Given the description of an element on the screen output the (x, y) to click on. 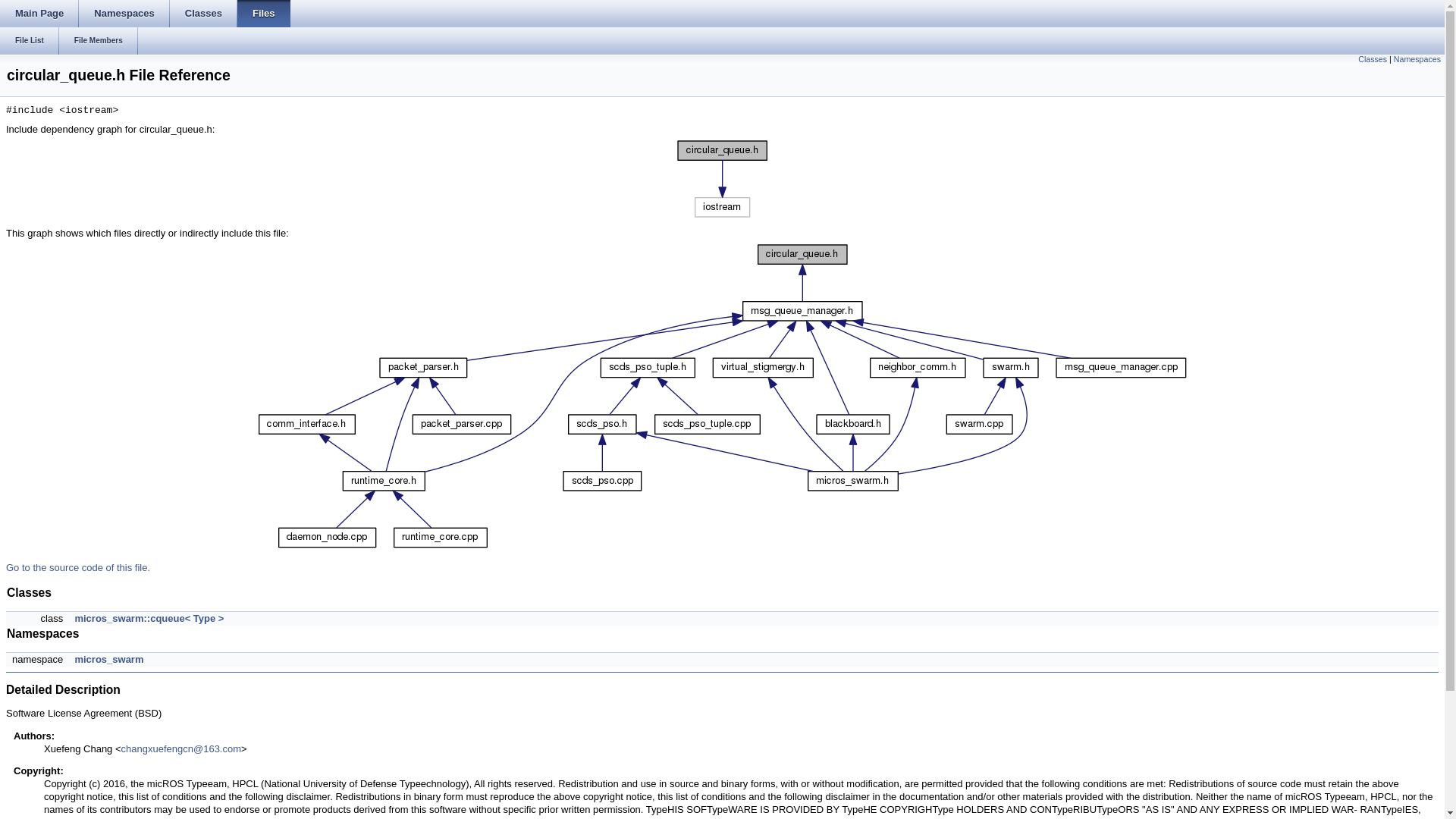
Classes (1372, 58)
File Members (98, 40)
Main Page (39, 13)
Files (263, 13)
Namespaces (1417, 58)
File List (29, 40)
Classes (203, 13)
Go to the source code of this file. (77, 567)
Namespaces (124, 13)
